Given the description of an element on the screen output the (x, y) to click on. 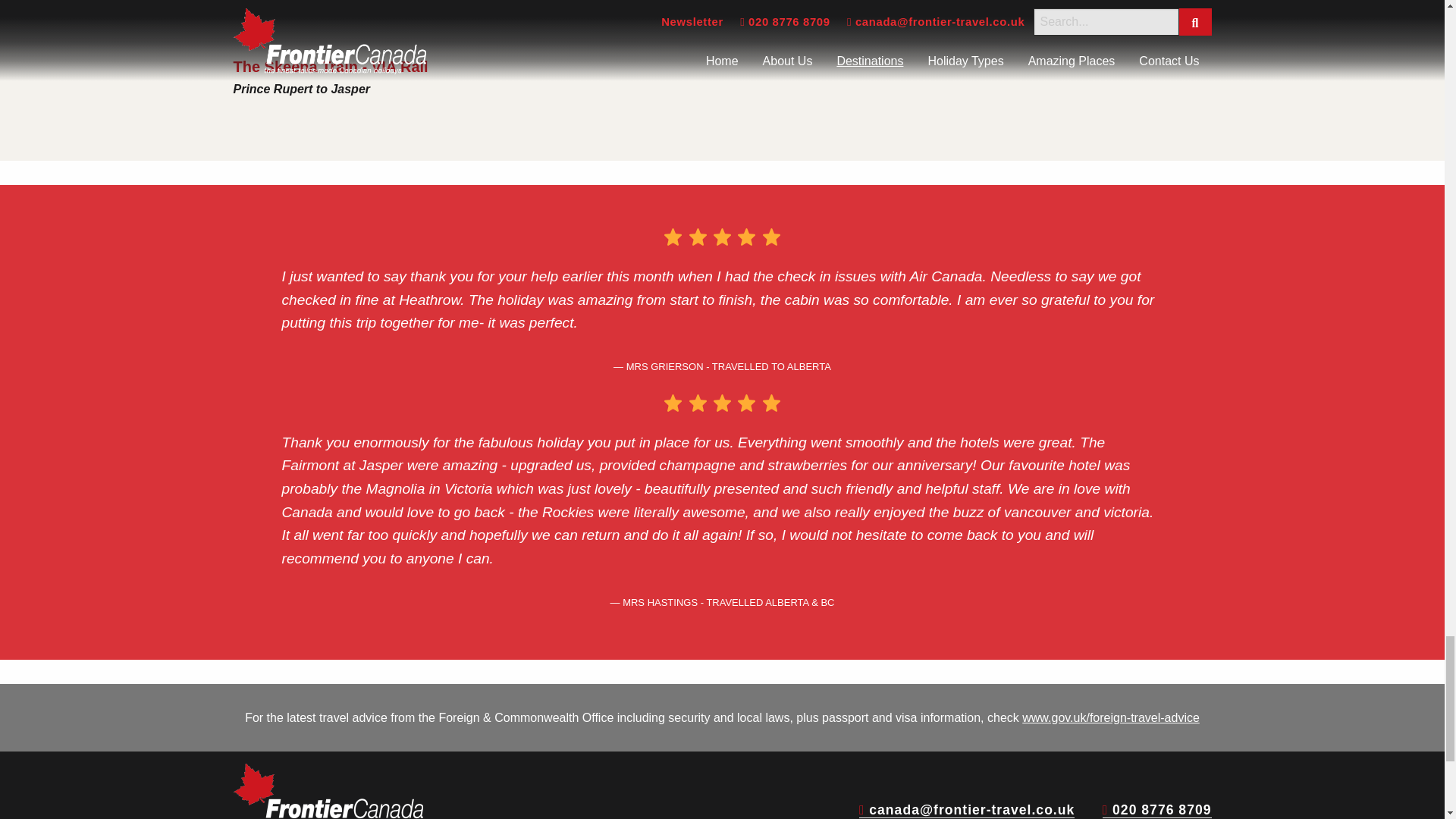
Frontier Canada (327, 791)
